Given the description of an element on the screen output the (x, y) to click on. 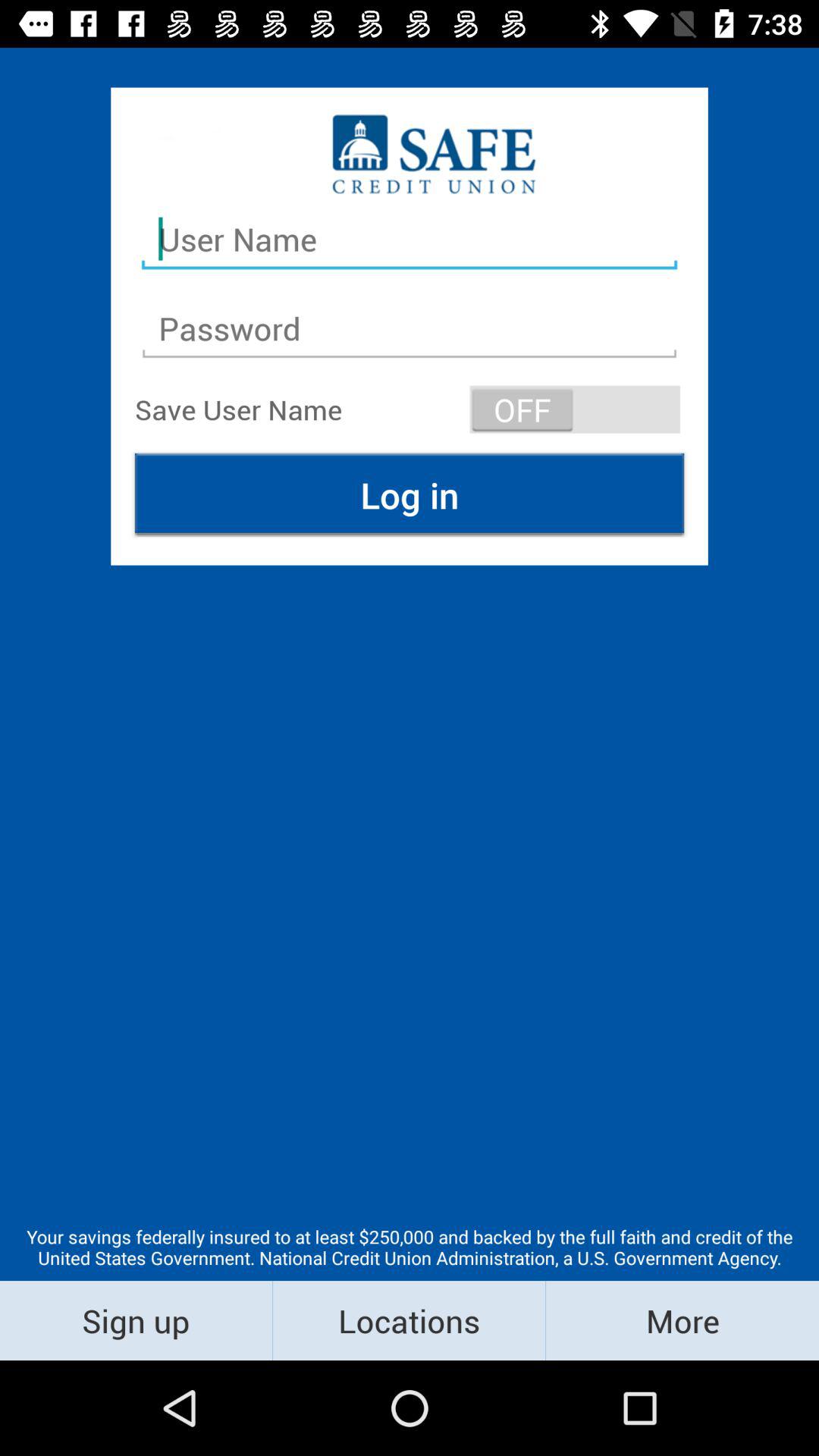
select the icon next to locations item (682, 1320)
